Given the description of an element on the screen output the (x, y) to click on. 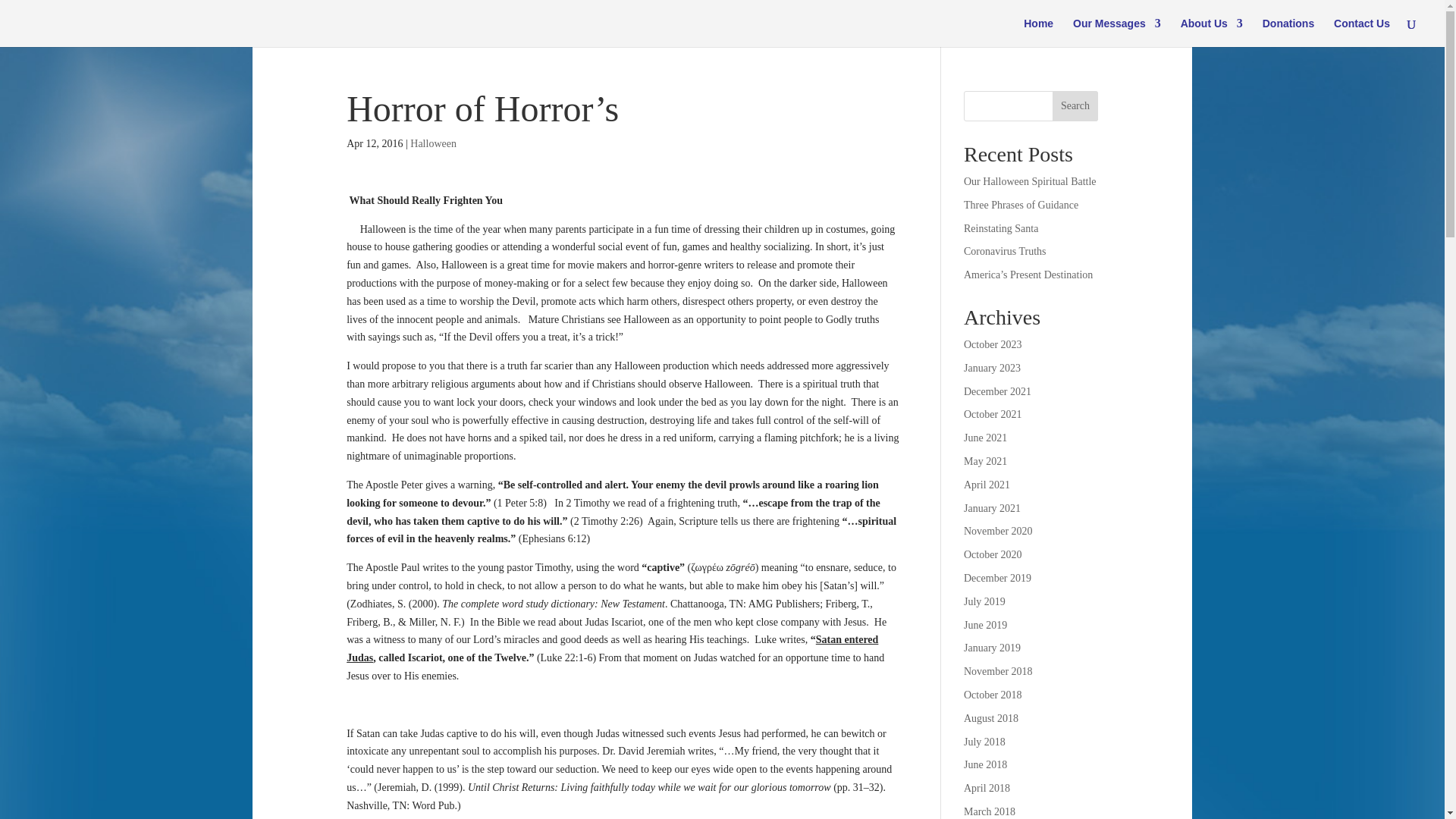
Our Halloween Spiritual Battle (1029, 181)
January 2023 (991, 367)
About Us (1211, 32)
Home (1037, 32)
Reinstating Santa (1000, 228)
October 2023 (992, 344)
Three Phrases of Guidance (1020, 204)
December 2021 (996, 391)
April 2021 (986, 484)
Contact Us (1361, 32)
